Given the description of an element on the screen output the (x, y) to click on. 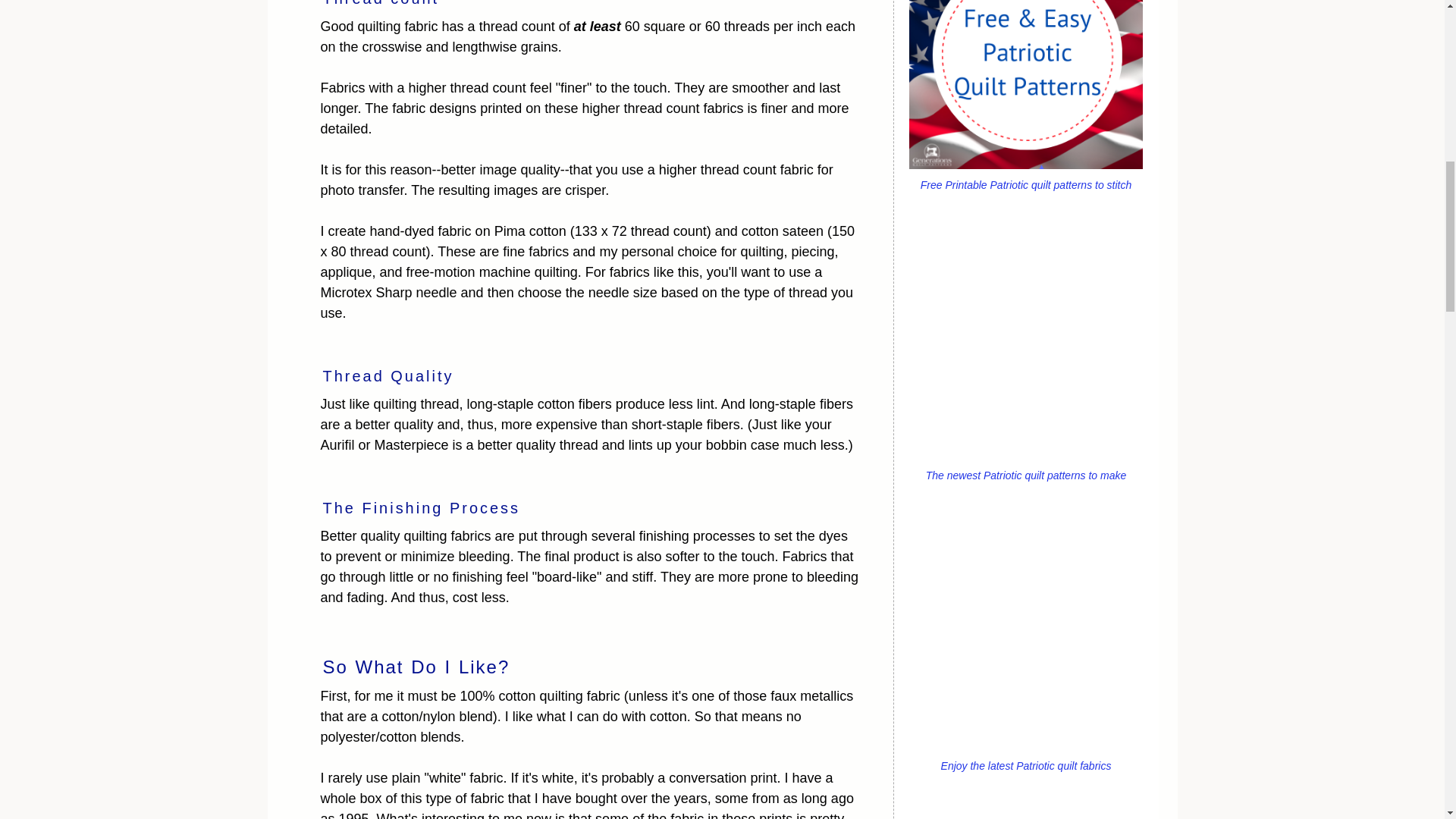
Click here for free patriotic quilt patterns to download (1025, 85)
The newest Patriotic quilt patterns to make (1025, 466)
Free Printable Patriotic quilt patterns to stitch (1025, 175)
Click here for American Flag quilt patterns (1025, 811)
Click here to see the newest patriotic quilt fabrics (1025, 633)
Go to New Patriotic Quilt Fabric: By the Yard-Precuts-Panels (1025, 756)
Click here to find Patriotic quilt patterns (1025, 342)
